Given the description of an element on the screen output the (x, y) to click on. 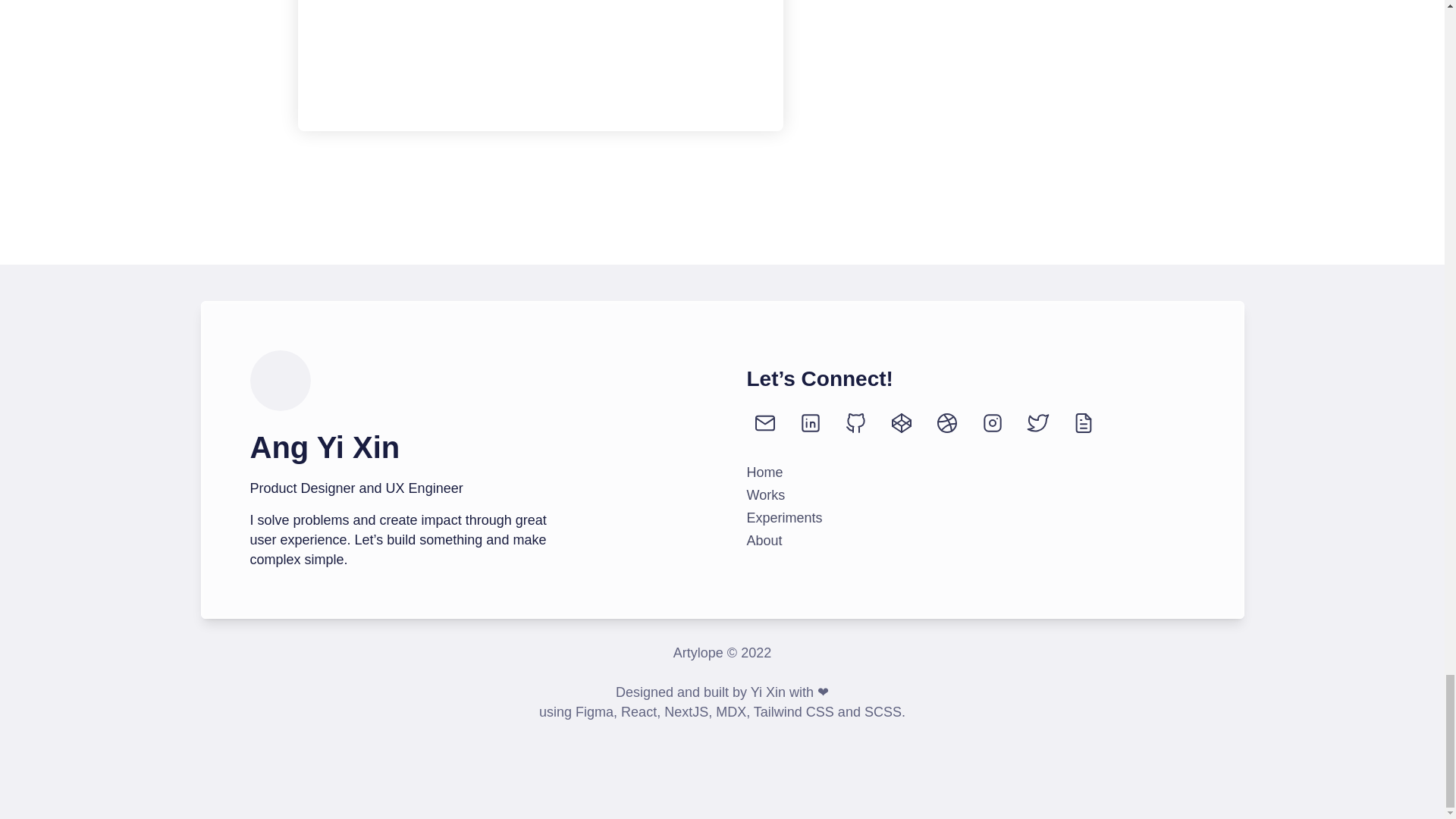
Home (764, 472)
Works (764, 494)
About (763, 540)
Experiments (783, 517)
